Given the description of an element on the screen output the (x, y) to click on. 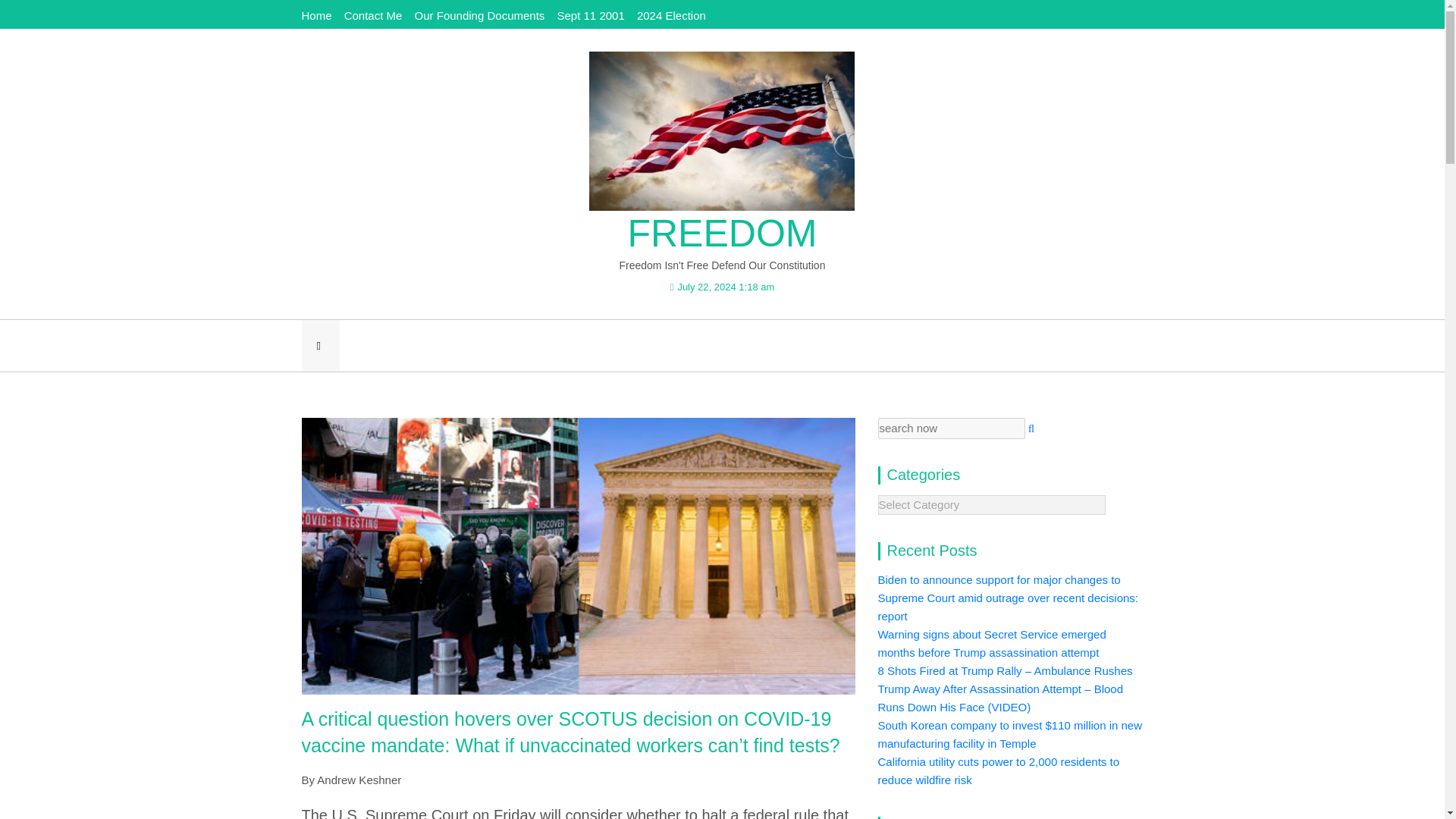
Contact Me (373, 15)
Our Founding Documents (479, 15)
FREEDOM (721, 233)
Sept 11 2001 (590, 15)
Home (316, 15)
2024 Election (671, 15)
